Given the description of an element on the screen output the (x, y) to click on. 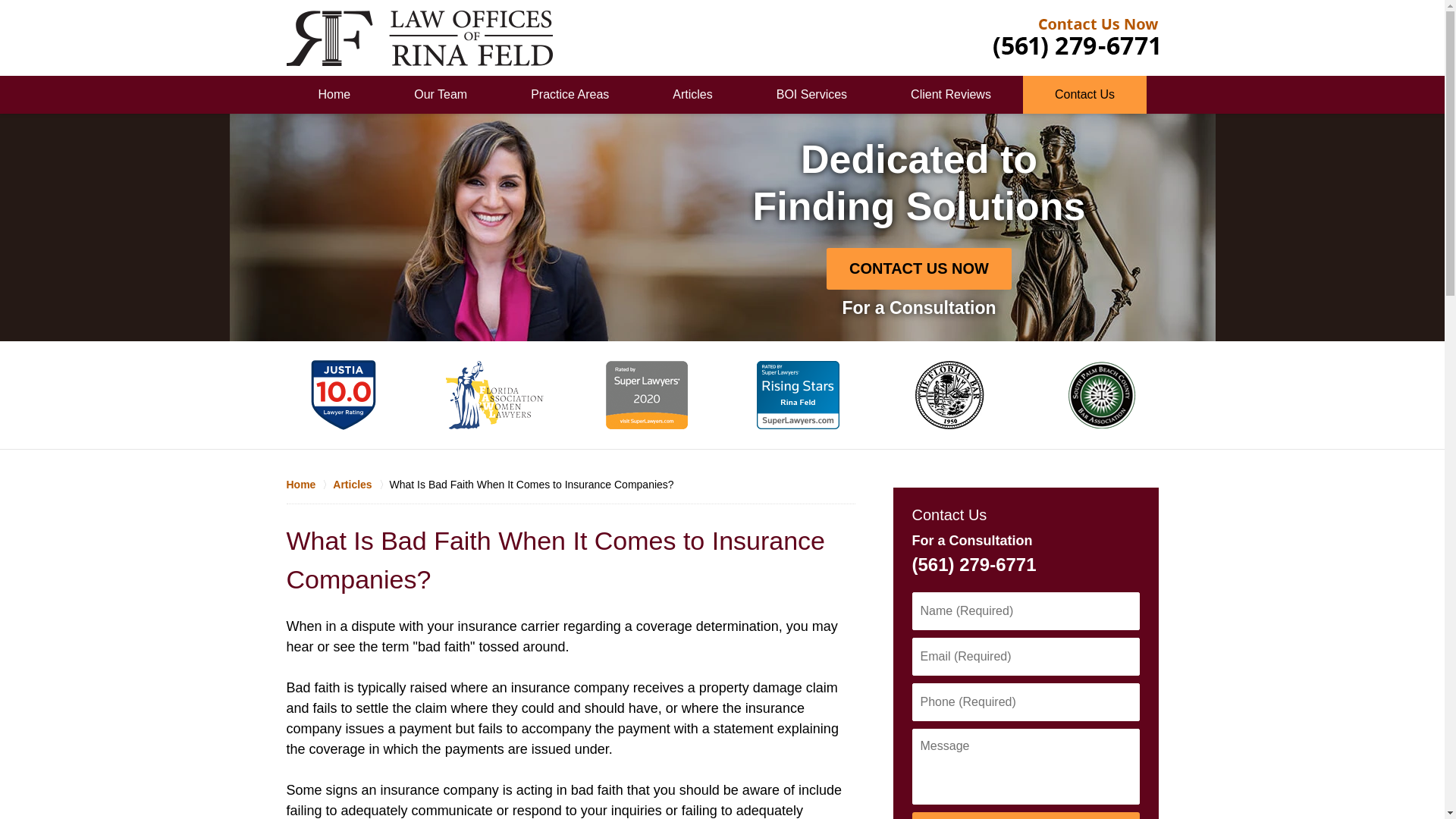
Articles (692, 94)
Articles (360, 483)
Home (334, 94)
CONTACT US NOW (1024, 815)
Home (309, 483)
Practice Areas (569, 94)
CONTACT US NOW (919, 268)
Contact Us (1085, 94)
Contact Law Offices of Rina Feld (1072, 38)
Client Reviews (951, 94)
